Given the description of an element on the screen output the (x, y) to click on. 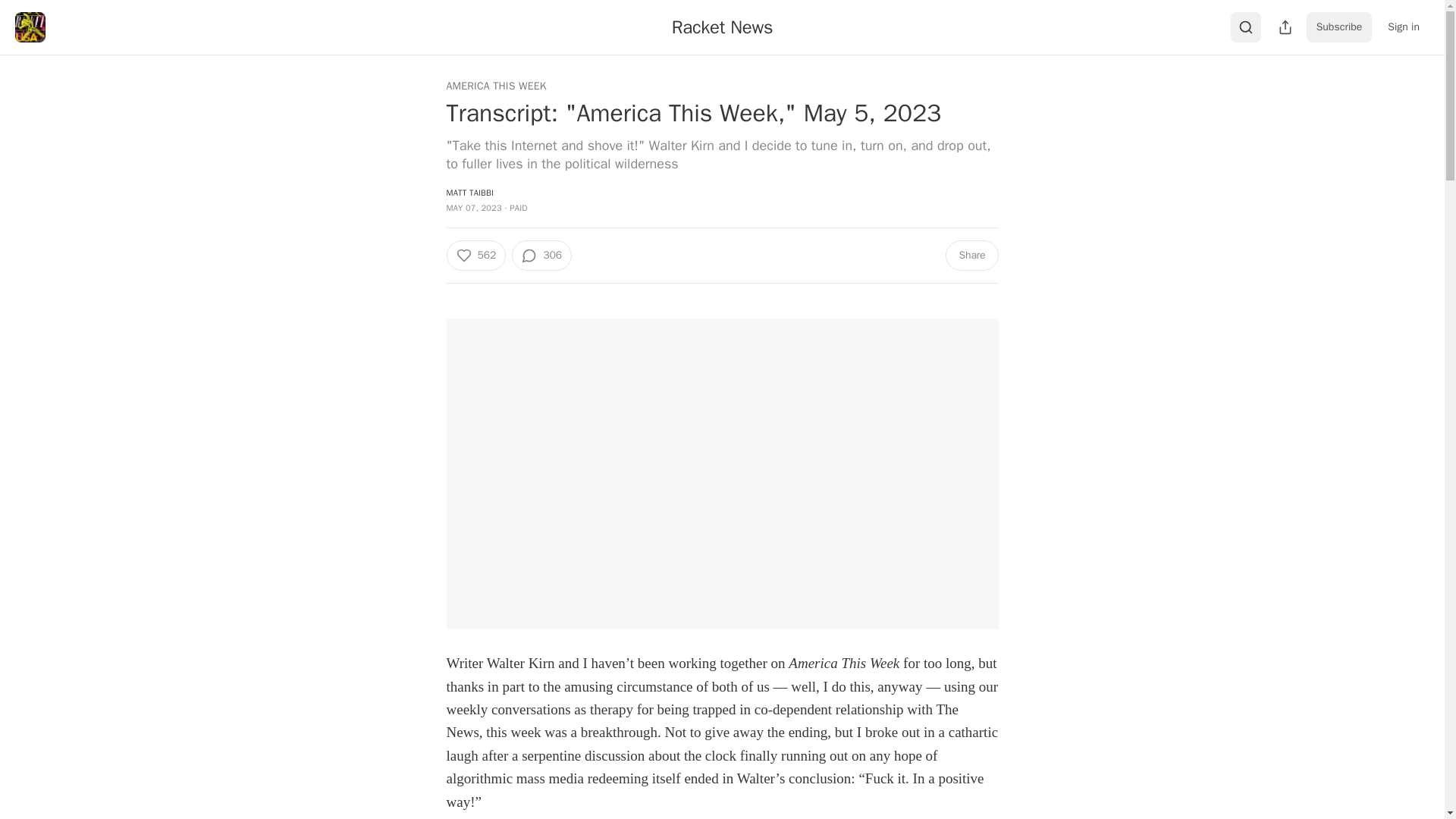
Sign in (1403, 27)
MATT TAIBBI (469, 192)
Subscribe (1339, 27)
Racket News (722, 26)
AMERICA THIS WEEK (495, 86)
306 (542, 255)
Share (970, 255)
562 (475, 255)
